Given the description of an element on the screen output the (x, y) to click on. 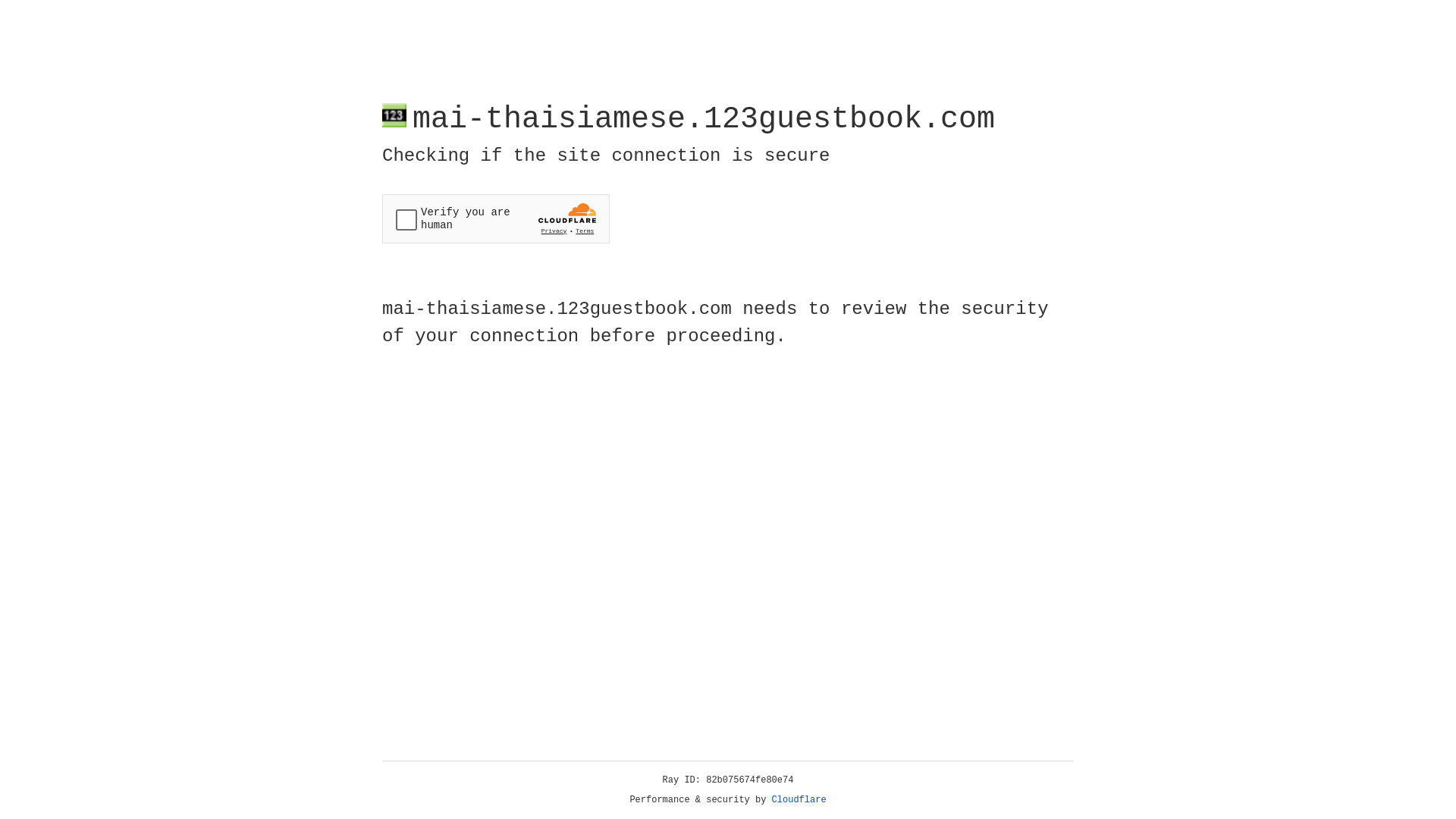
Widget containing a Cloudflare security challenge Element type: hover (495, 218)
Cloudflare Element type: text (798, 799)
